Given the description of an element on the screen output the (x, y) to click on. 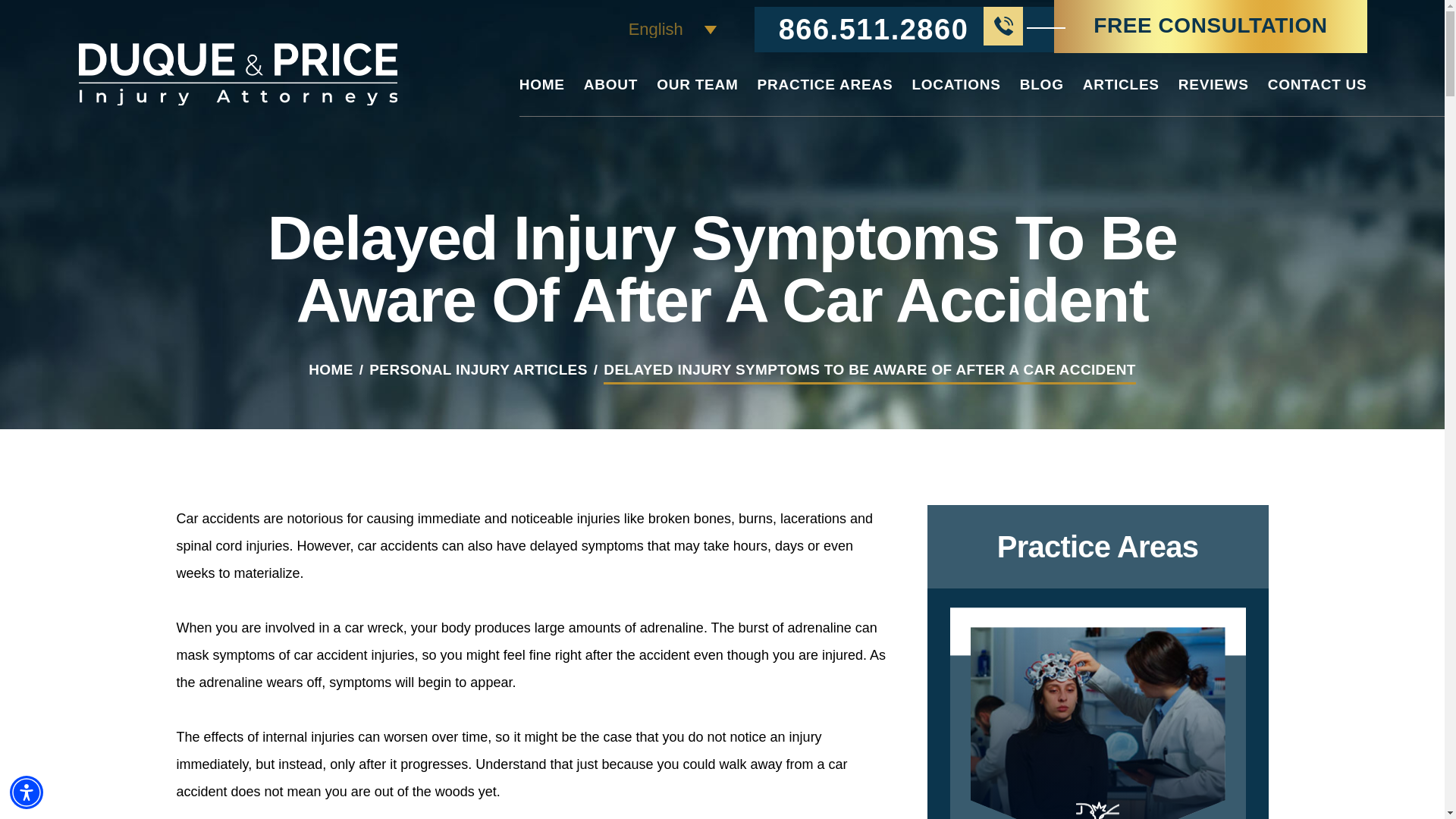
Go to Personal Injury Articles. (477, 369)
Accessibility Menu (26, 792)
866.511.2860 (904, 29)
HOME (541, 96)
FREE CONSULTATION (1210, 26)
LOCATIONS (955, 96)
ABOUT (610, 96)
OUR TEAM (697, 96)
PRACTICE AREAS (825, 96)
